Given the description of an element on the screen output the (x, y) to click on. 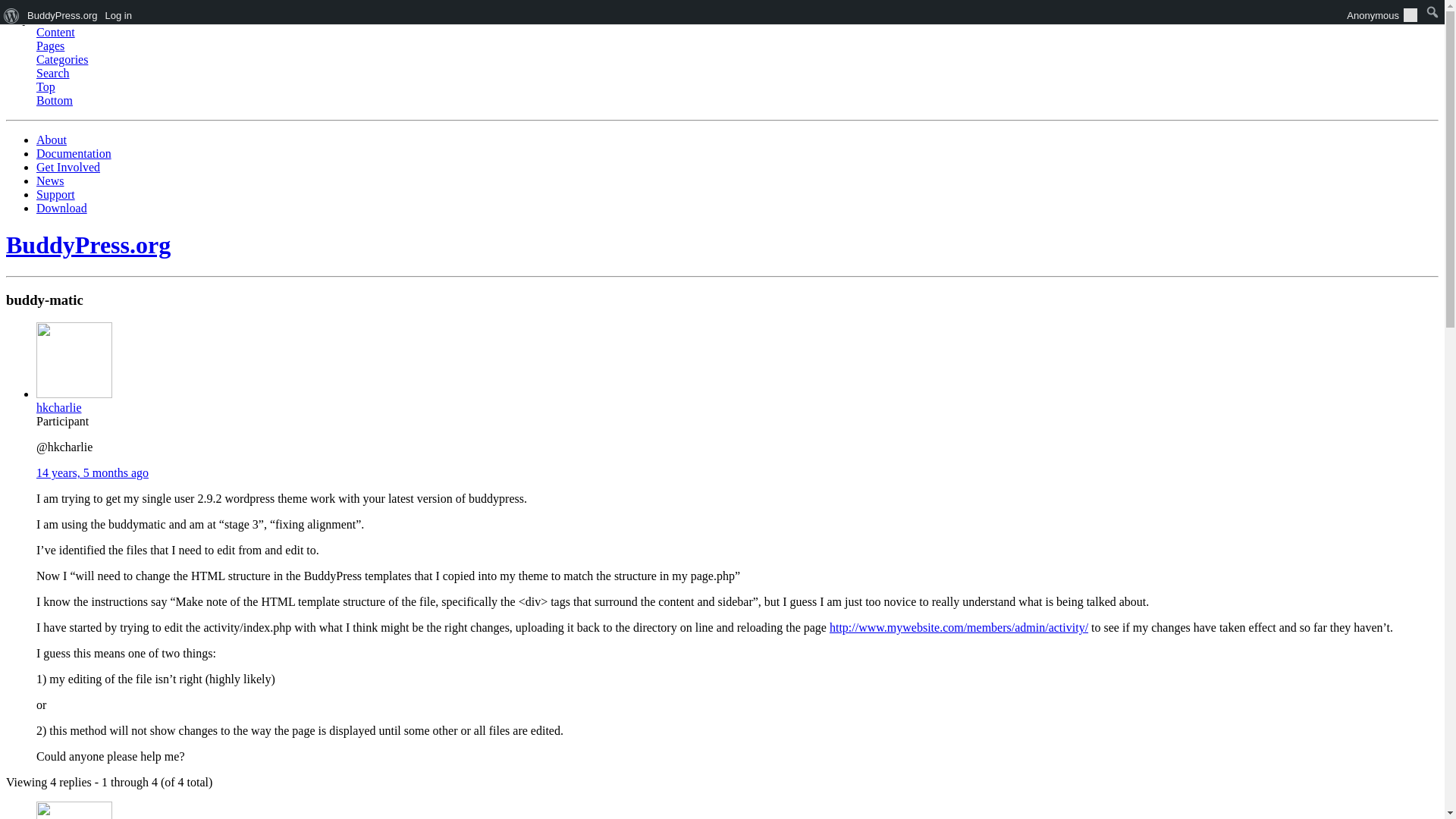
Get Involved (68, 166)
Download (61, 207)
14 years, 5 months ago (92, 472)
Top (45, 86)
Documentation (74, 153)
Support (55, 194)
Bottom (54, 100)
About (51, 139)
BuddyPress.org (87, 244)
Content (55, 31)
